Given the description of an element on the screen output the (x, y) to click on. 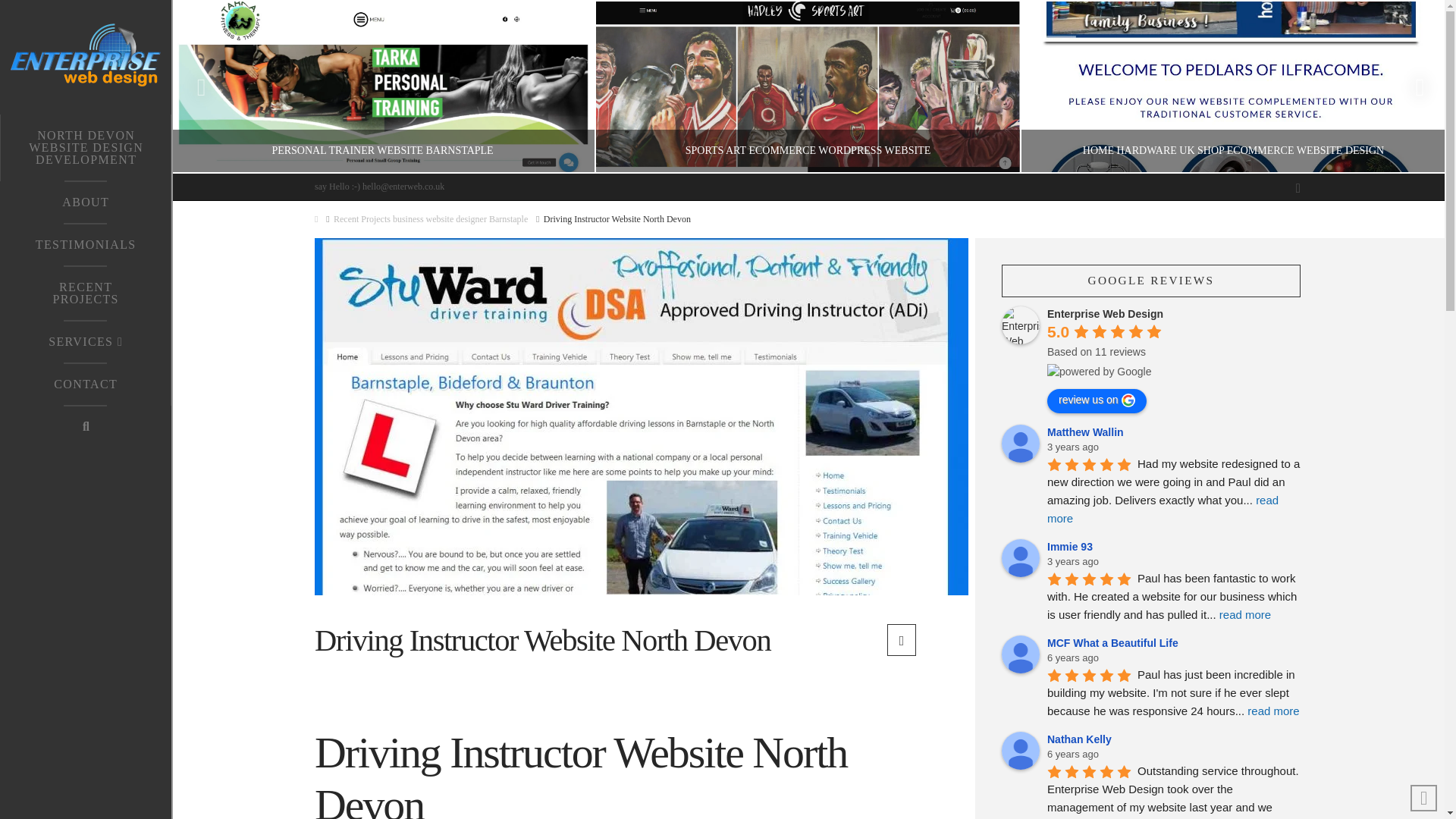
powered by Google (1098, 371)
SPORTS ART ECOMMERCE WORDPRESS WEBSITE (807, 86)
SERVICES (85, 341)
Matthew Wallin (1020, 443)
Immie 93 (1020, 557)
Nathan Kelly (1020, 750)
Recent Projects business website designer Barnstaple (430, 219)
ABOUT (85, 201)
RECENT PROJECTS (85, 292)
MCF What a Beautiful Life (1020, 654)
You Are Here (616, 219)
PERSONAL TRAINER WEBSITE BARNSTAPLE (381, 86)
NORTH DEVON WEBSITE DESIGN DEVELOPMENT (85, 146)
Enterprise Web Design (1020, 324)
TESTIMONIALS (85, 243)
